Given the description of an element on the screen output the (x, y) to click on. 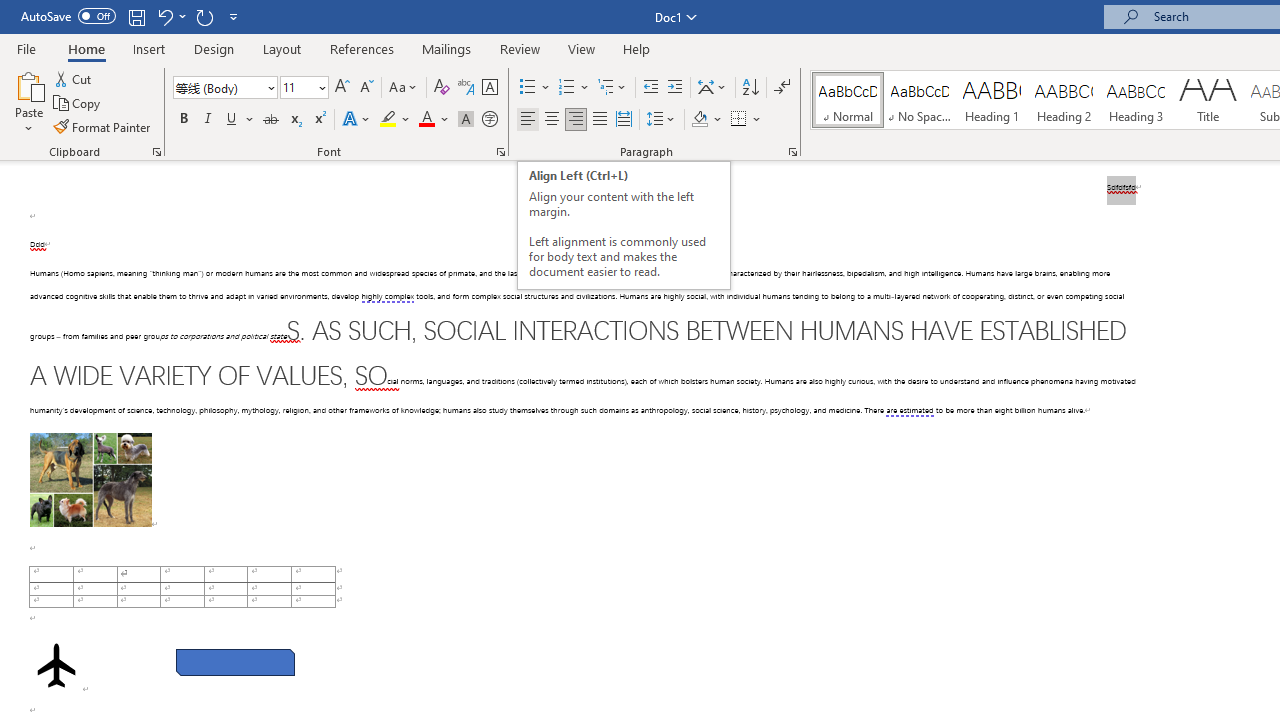
Rectangle: Diagonal Corners Snipped 2 (235, 662)
Undo Paragraph Alignment (170, 15)
Undo Paragraph Alignment (164, 15)
